Given the description of an element on the screen output the (x, y) to click on. 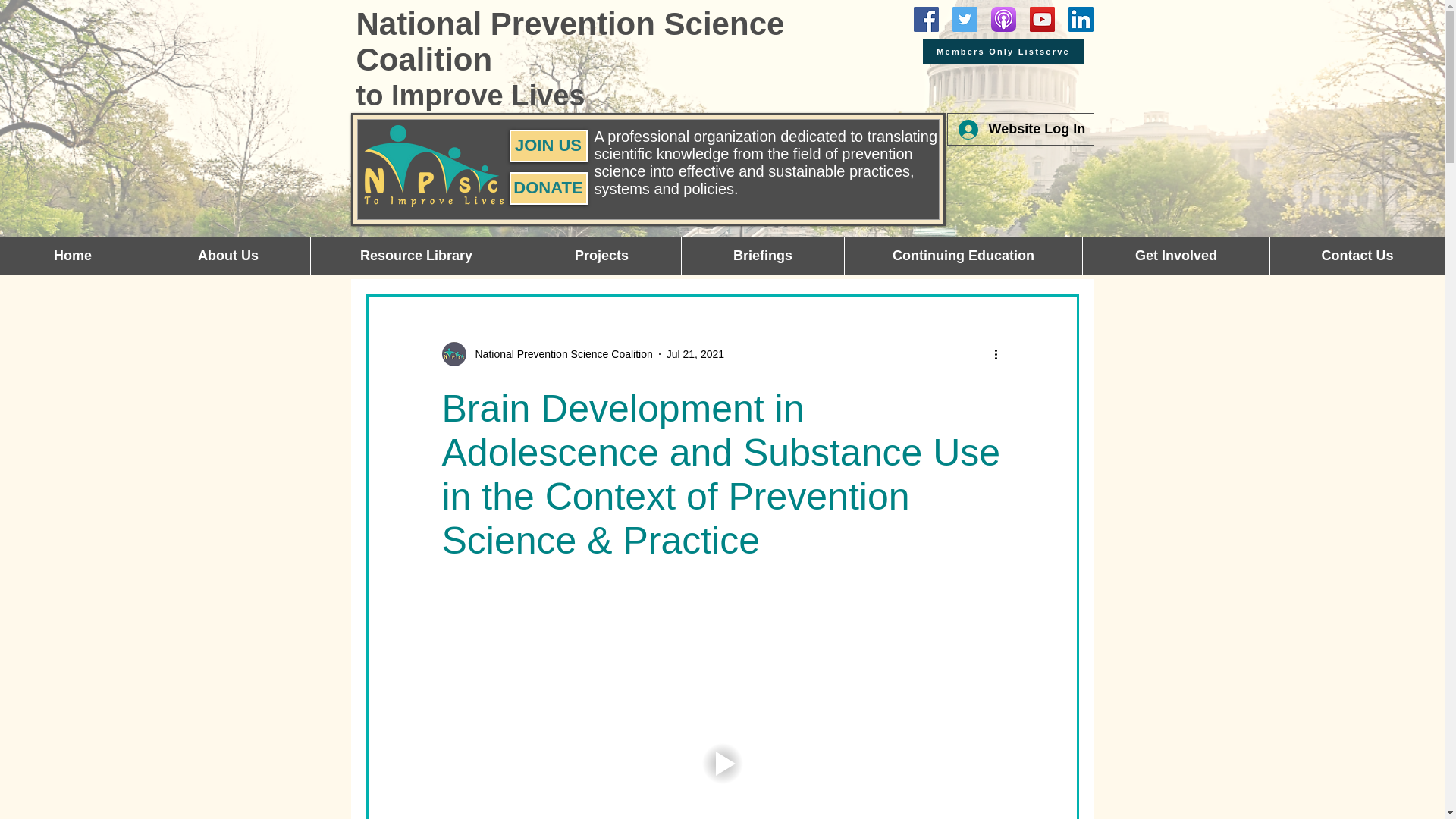
Get Involved (1175, 255)
Projects (601, 255)
Resource Library (415, 255)
Website Log In (1020, 129)
Members Only Listserve (1002, 50)
About Us (227, 255)
Continuing Education (962, 255)
National Prevention Science Coalition (546, 354)
DONATE (548, 187)
